Given the description of an element on the screen output the (x, y) to click on. 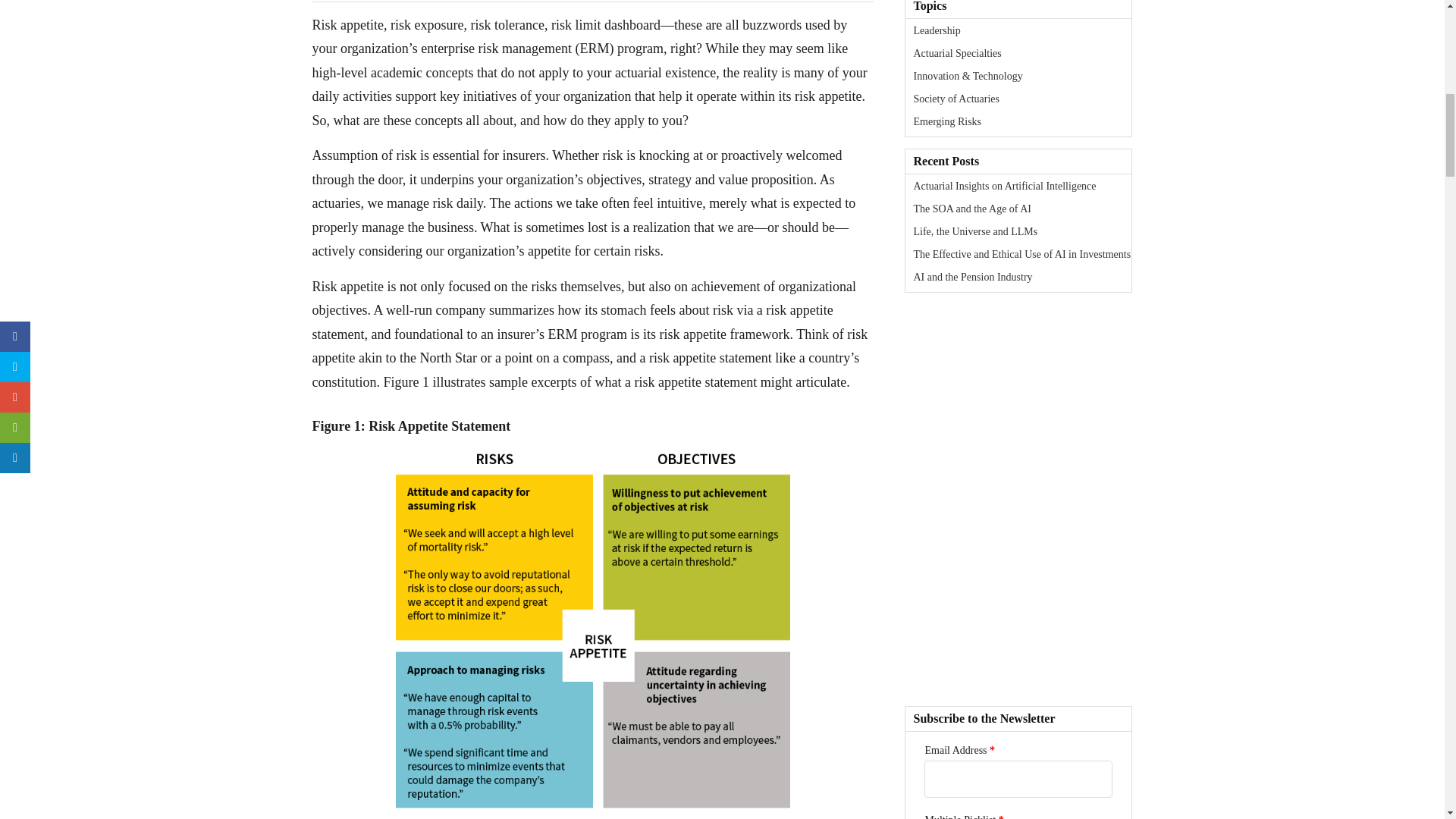
3rd party ad content (1018, 599)
3rd party ad content (1018, 398)
